Given the description of an element on the screen output the (x, y) to click on. 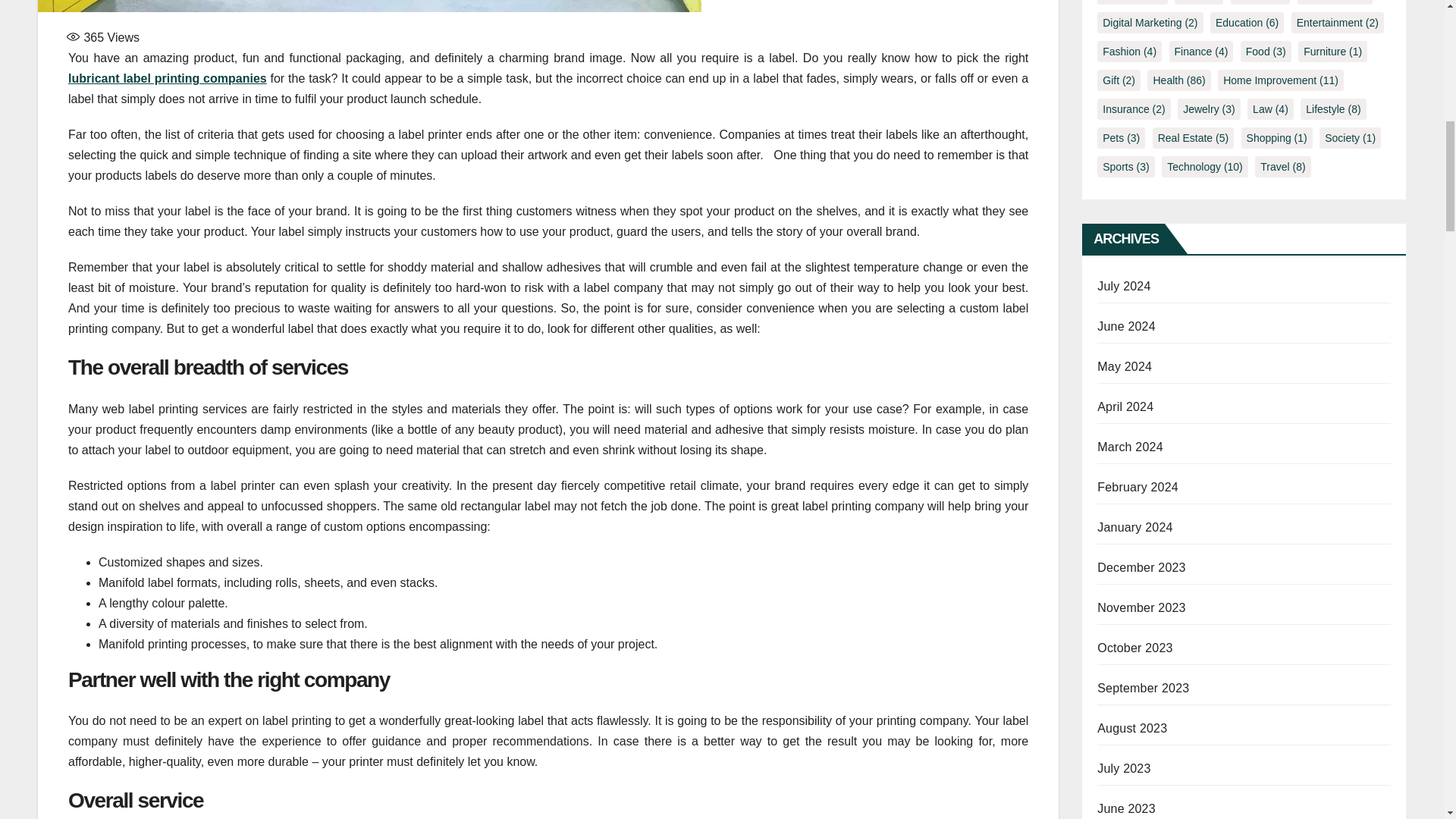
lubricant label printing companies (167, 78)
